Given the description of an element on the screen output the (x, y) to click on. 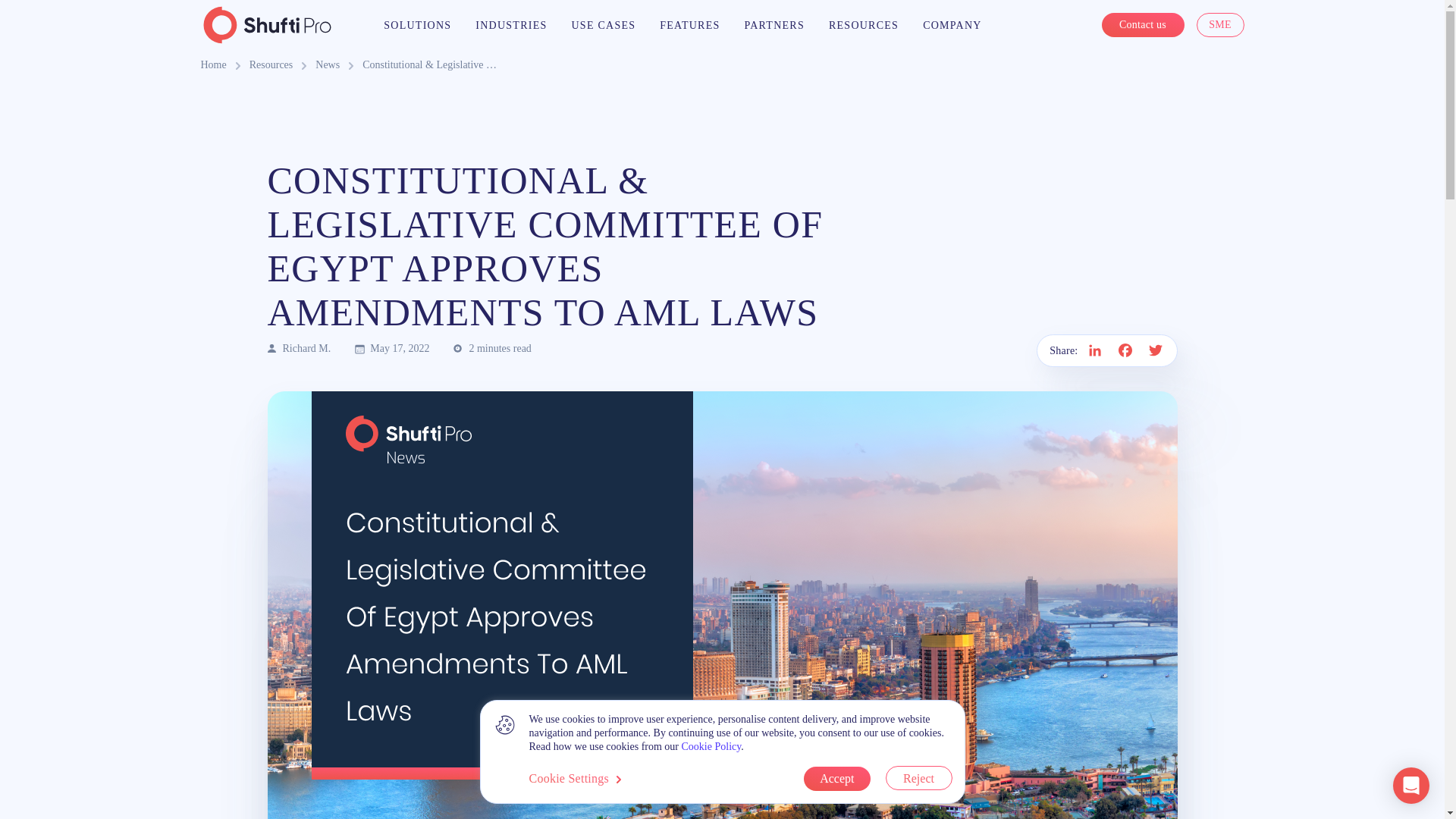
shuftipro-img (266, 24)
INDUSTRIES (511, 25)
SOLUTIONS (417, 25)
